Given the description of an element on the screen output the (x, y) to click on. 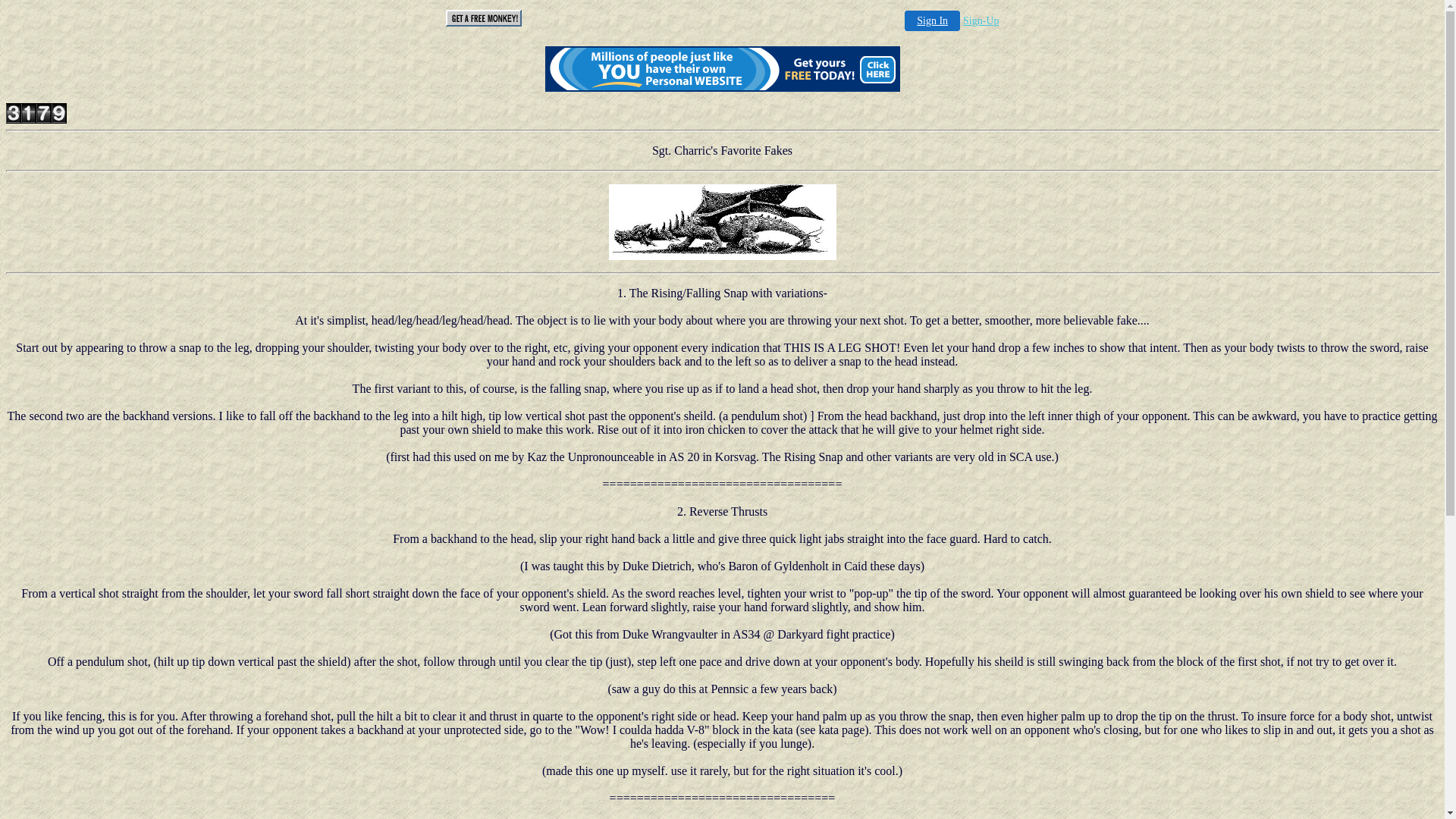
Sign In Element type: text (932, 20)
Sign-Up Element type: text (980, 20)
